Given the description of an element on the screen output the (x, y) to click on. 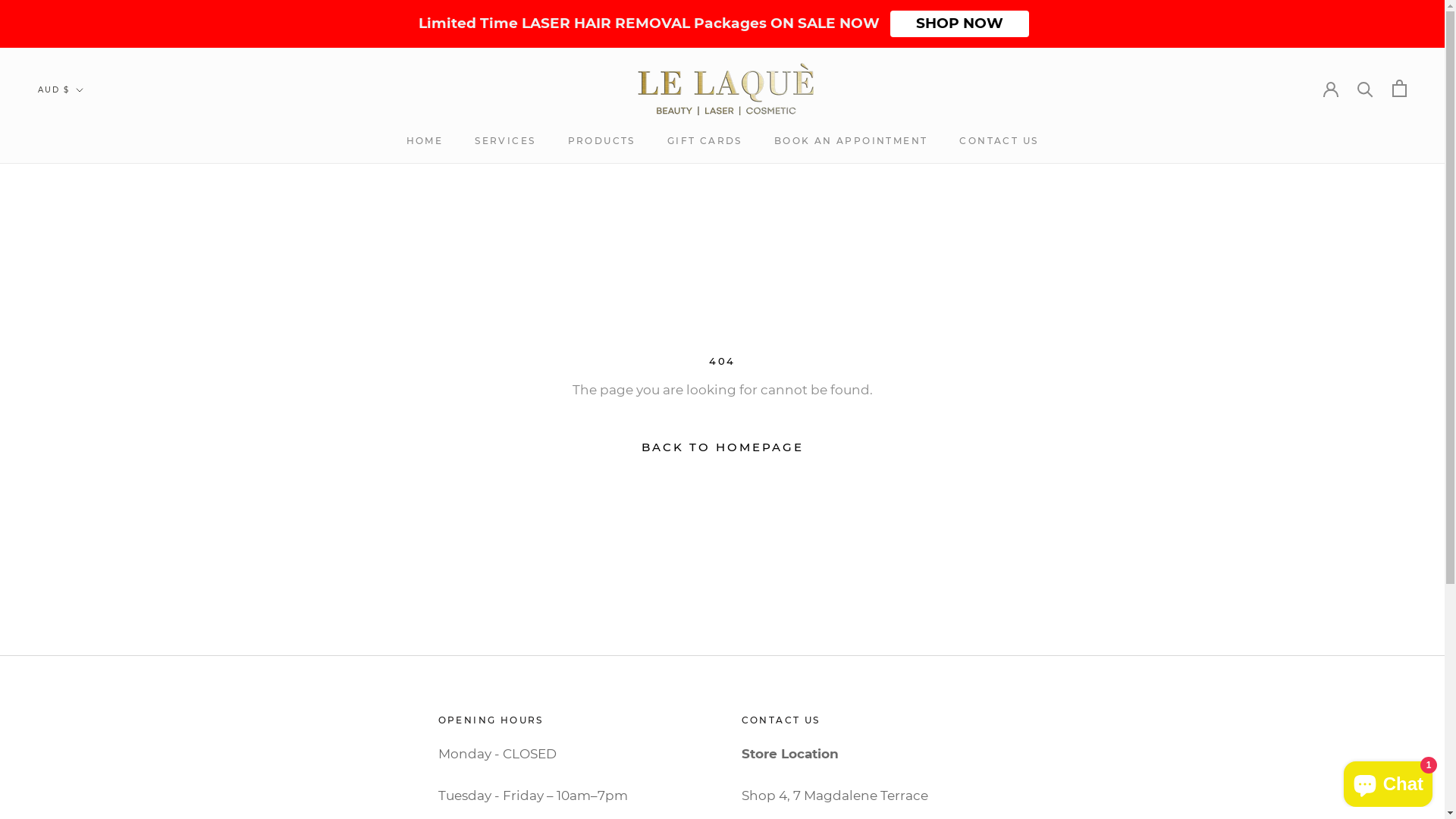
DKK Element type: text (86, 644)
CDF Element type: text (86, 504)
GIFT CARDS
GIFT CARDS Element type: text (704, 140)
CVE Element type: text (86, 584)
PRODUCTS Element type: text (600, 140)
ALL Element type: text (86, 162)
CAD Element type: text (86, 483)
CRC Element type: text (86, 564)
AWG Element type: text (86, 242)
DZD Element type: text (86, 684)
BACK TO HOMEPAGE Element type: text (721, 446)
BDT Element type: text (86, 323)
CZK Element type: text (86, 604)
AED Element type: text (86, 122)
BIF Element type: text (86, 363)
BND Element type: text (86, 383)
HOME
HOME Element type: text (424, 140)
ANG Element type: text (86, 202)
SERVICES Element type: text (504, 140)
AFN Element type: text (86, 142)
EGP Element type: text (86, 705)
ETB Element type: text (86, 725)
FJD Element type: text (86, 765)
BWP Element type: text (86, 443)
AUD $ Element type: text (60, 90)
CONTACT US
CONTACT US Element type: text (998, 140)
BOB Element type: text (86, 403)
BZD Element type: text (86, 464)
AUD Element type: text (86, 223)
Shopify online store chat Element type: hover (1388, 780)
CNY Element type: text (86, 544)
AMD Element type: text (86, 182)
BSD Element type: text (86, 424)
DJF Element type: text (86, 625)
BOOK AN APPOINTMENT
BOOK AN APPOINTMENT Element type: text (851, 140)
EUR Element type: text (86, 745)
GBP Element type: text (86, 805)
BGN Element type: text (86, 343)
CHF Element type: text (86, 524)
DOP Element type: text (86, 665)
BBD Element type: text (86, 303)
AZN Element type: text (86, 263)
BAM Element type: text (86, 283)
FKP Element type: text (86, 785)
